Given the description of an element on the screen output the (x, y) to click on. 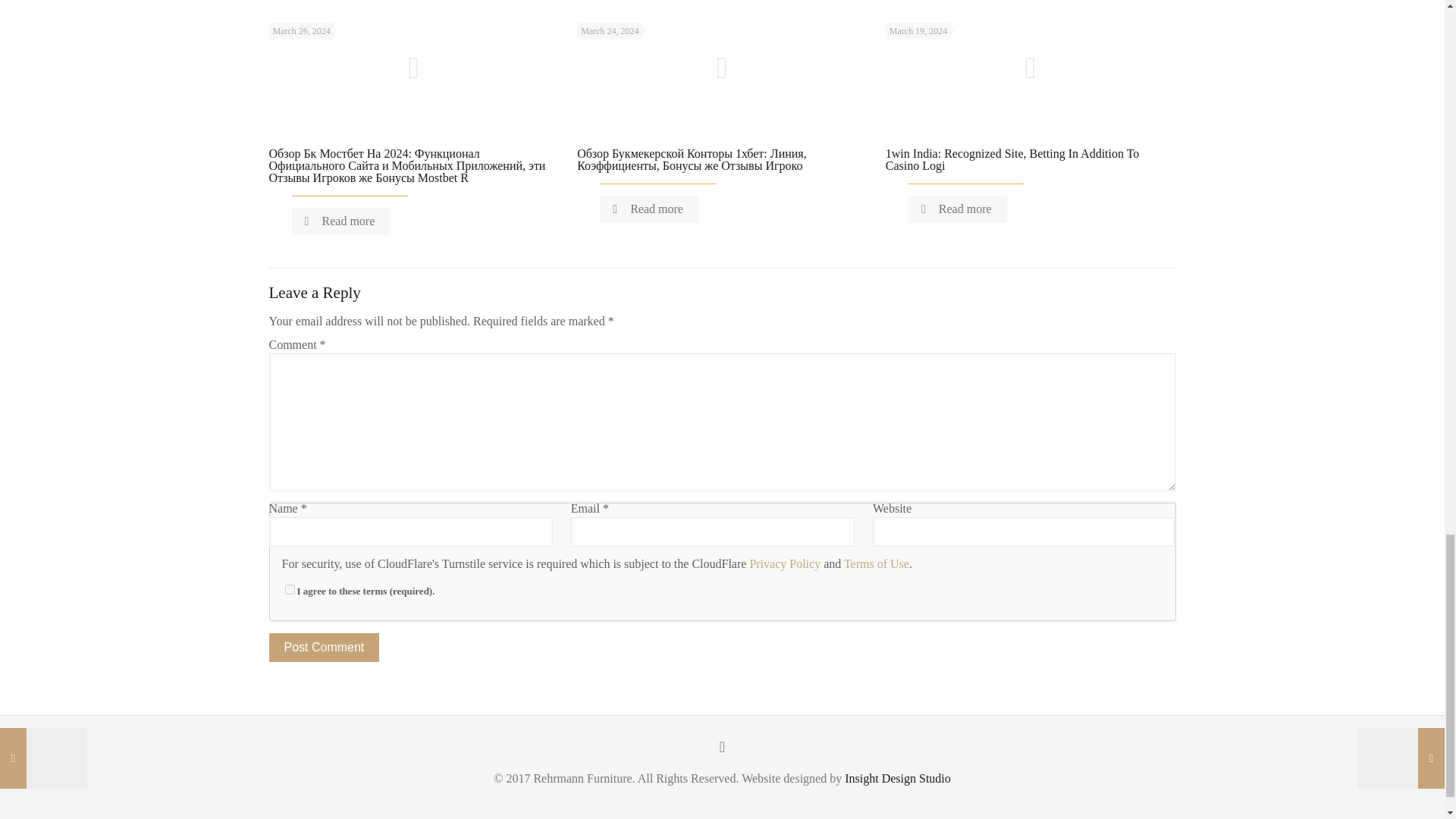
Terms of Use (876, 563)
Read more (340, 221)
Find us on google maps (730, 798)
Privacy Policy (785, 563)
Post Comment (322, 647)
on (290, 589)
Insight Design Studio (897, 778)
Facebook (713, 798)
Post Comment (322, 647)
Read more (957, 208)
Read more (648, 208)
